Given the description of an element on the screen output the (x, y) to click on. 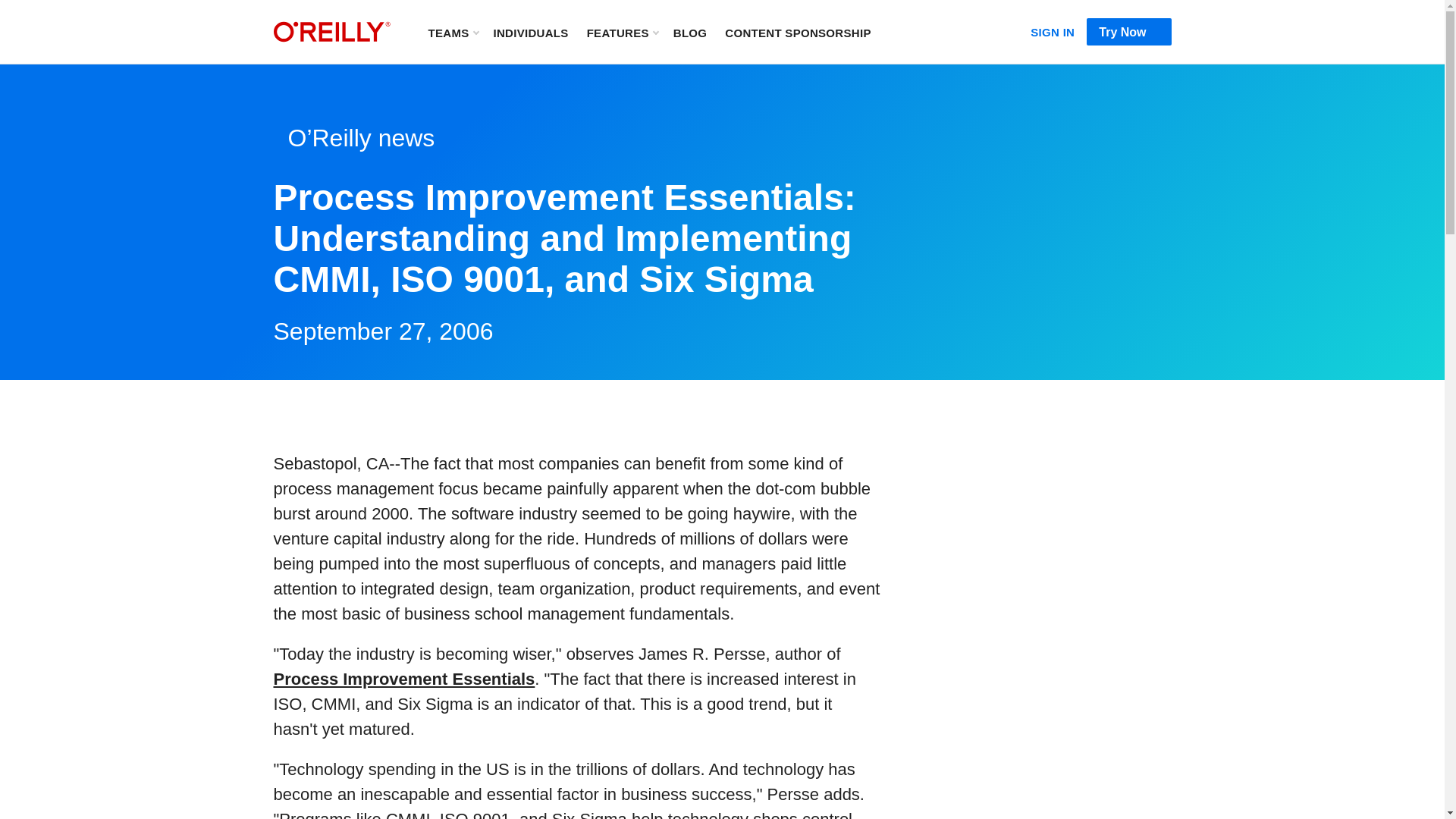
CONTENT SPONSORSHIP (797, 31)
Try Now (1128, 31)
BLOG (689, 31)
INDIVIDUALS (530, 31)
SIGN IN (1052, 29)
FEATURES (622, 31)
TEAMS (452, 31)
home page (331, 31)
Search (903, 31)
Process Improvement Essentials (403, 678)
